Given the description of an element on the screen output the (x, y) to click on. 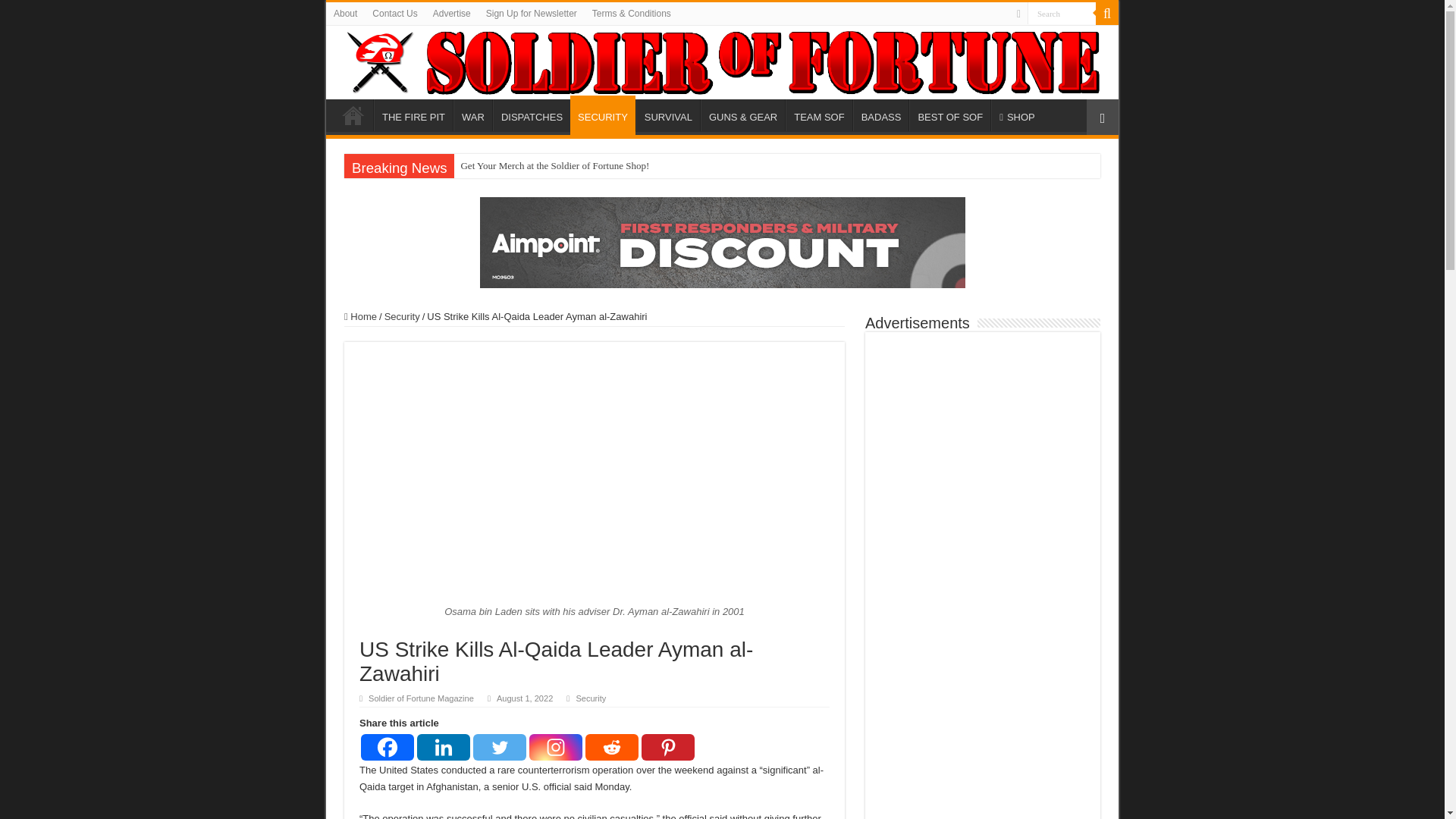
Security (590, 697)
Contact Us (395, 13)
Home (352, 115)
Advertise (452, 13)
THE FIRE PIT (413, 115)
SECURITY (602, 115)
BADASS (880, 115)
DISPATCHES (531, 115)
Home (360, 316)
Badass of the Week (880, 115)
Get Your Merch at the Soldier of Fortune Shop! (554, 165)
About (345, 13)
Soldier of Fortune Magazine (722, 62)
Security (402, 316)
Firearms, Gear, Ammo, and More (742, 115)
